Given the description of an element on the screen output the (x, y) to click on. 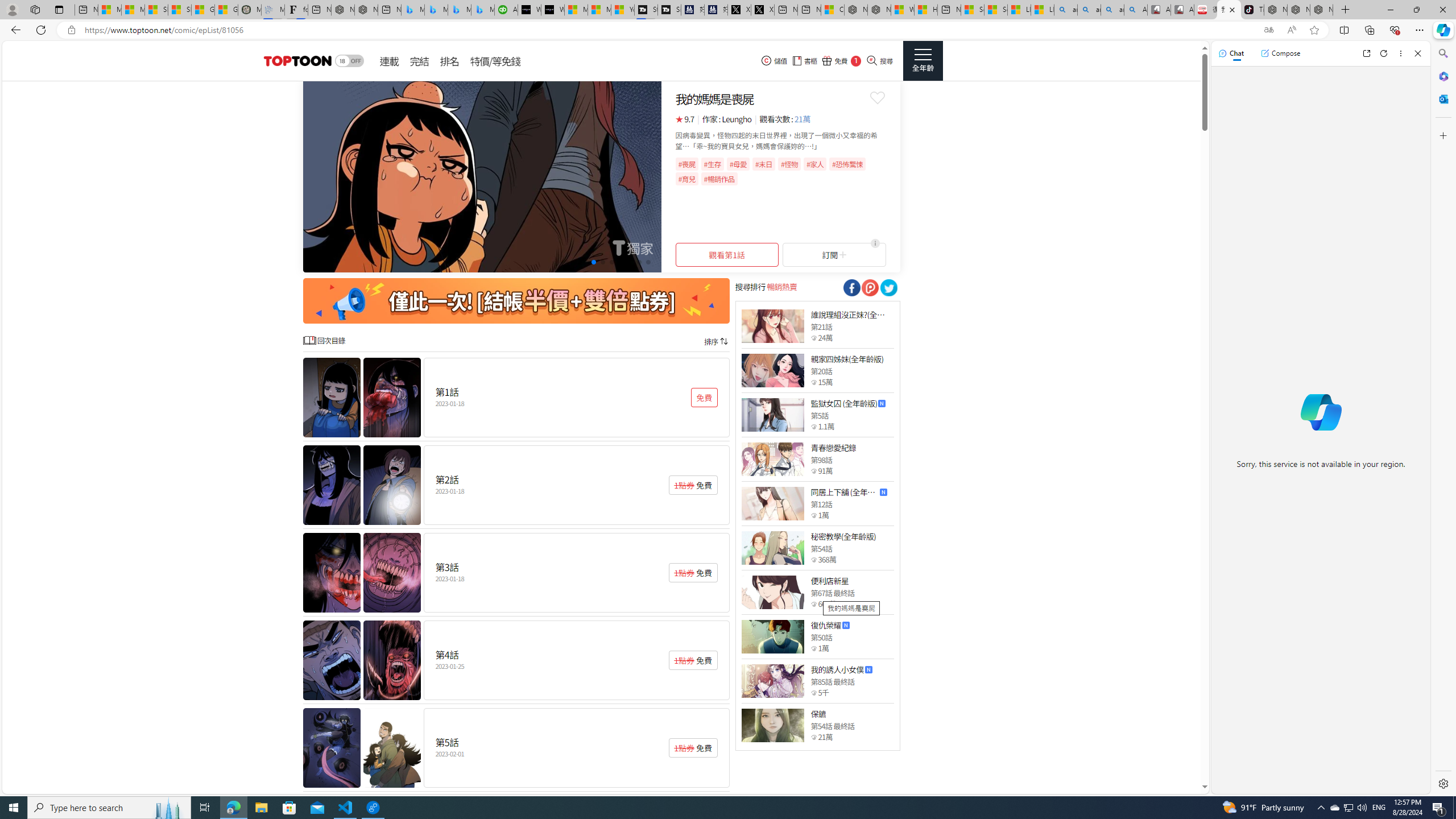
Open link in new tab (1366, 53)
